Given the description of an element on the screen output the (x, y) to click on. 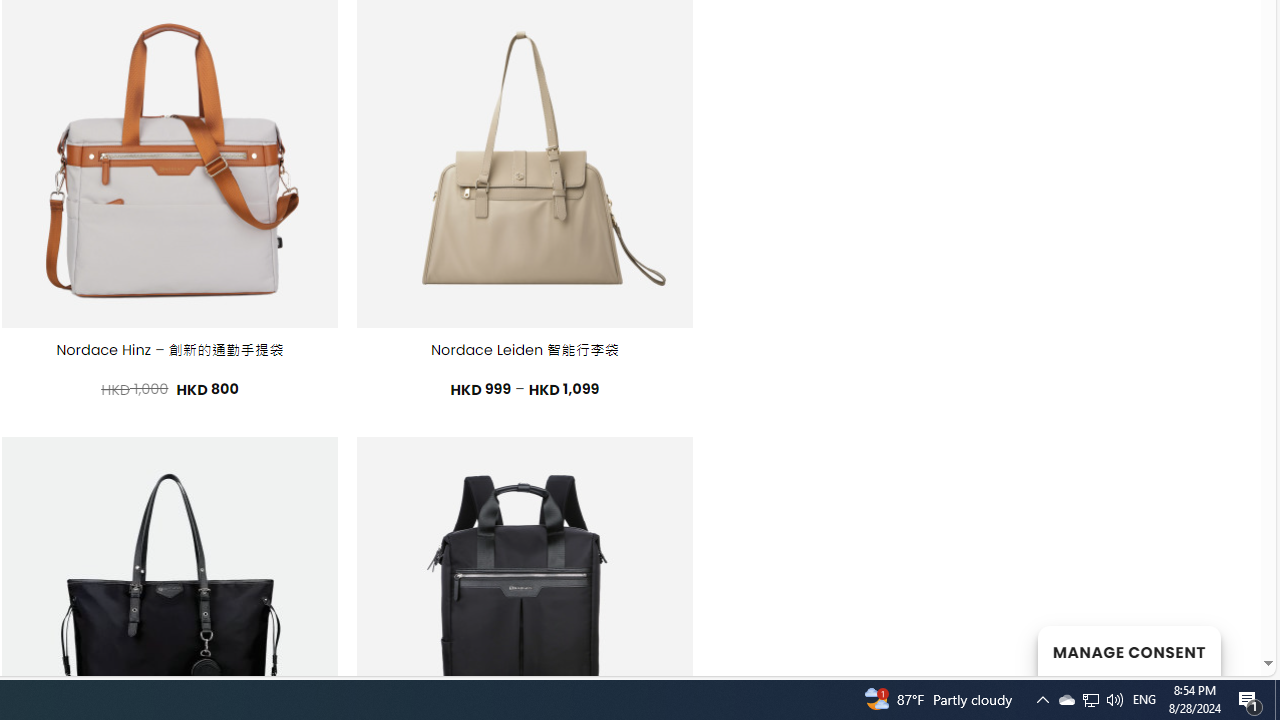
MANAGE CONSENT (1128, 650)
